Given the description of an element on the screen output the (x, y) to click on. 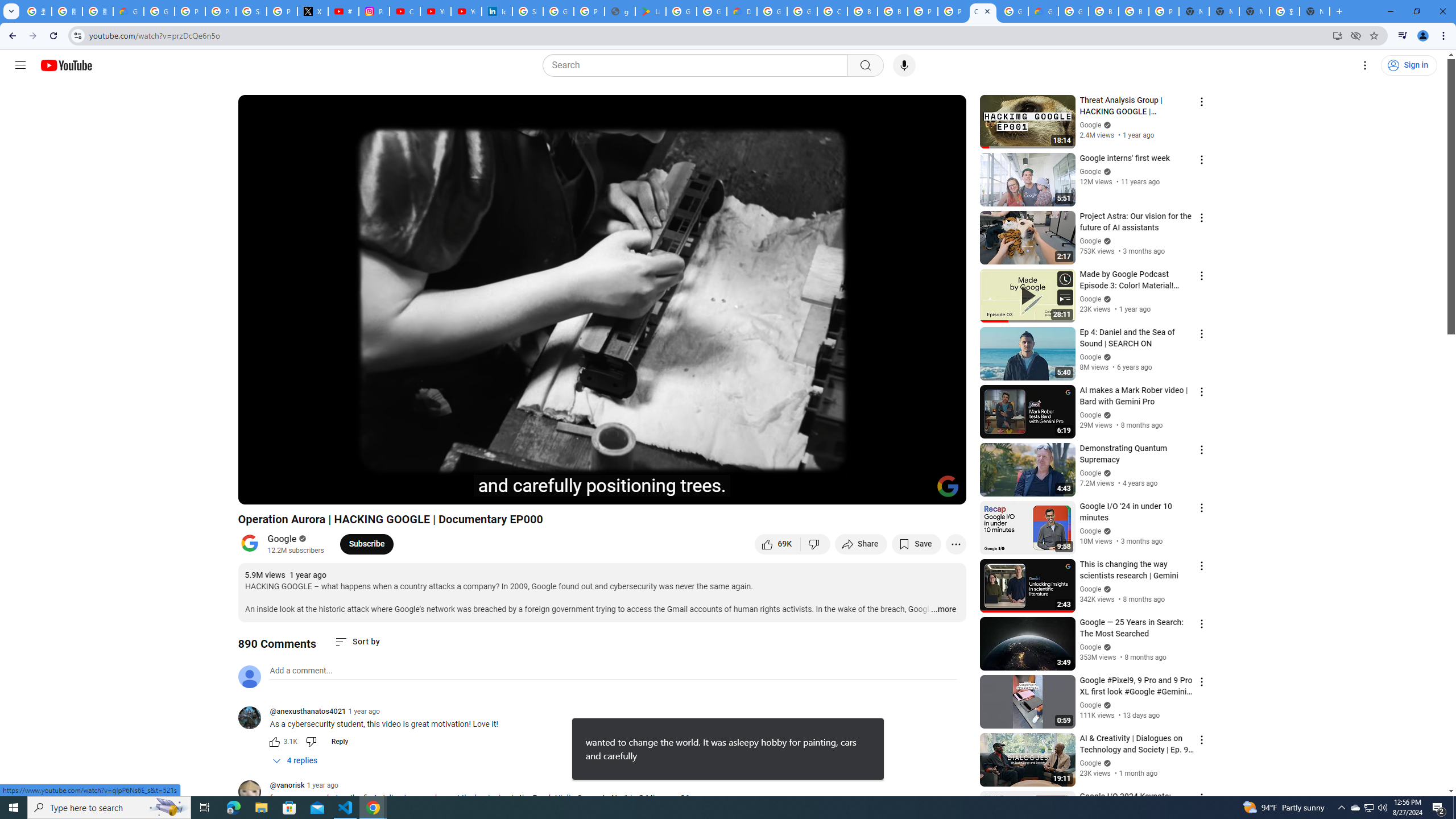
Last Shelter: Survival - Apps on Google Play (650, 11)
More actions (955, 543)
Channel watermark (947, 486)
Seek slider (601, 476)
Miniplayer (i) (890, 490)
@anexusthanatos4021 (253, 717)
